Given the description of an element on the screen output the (x, y) to click on. 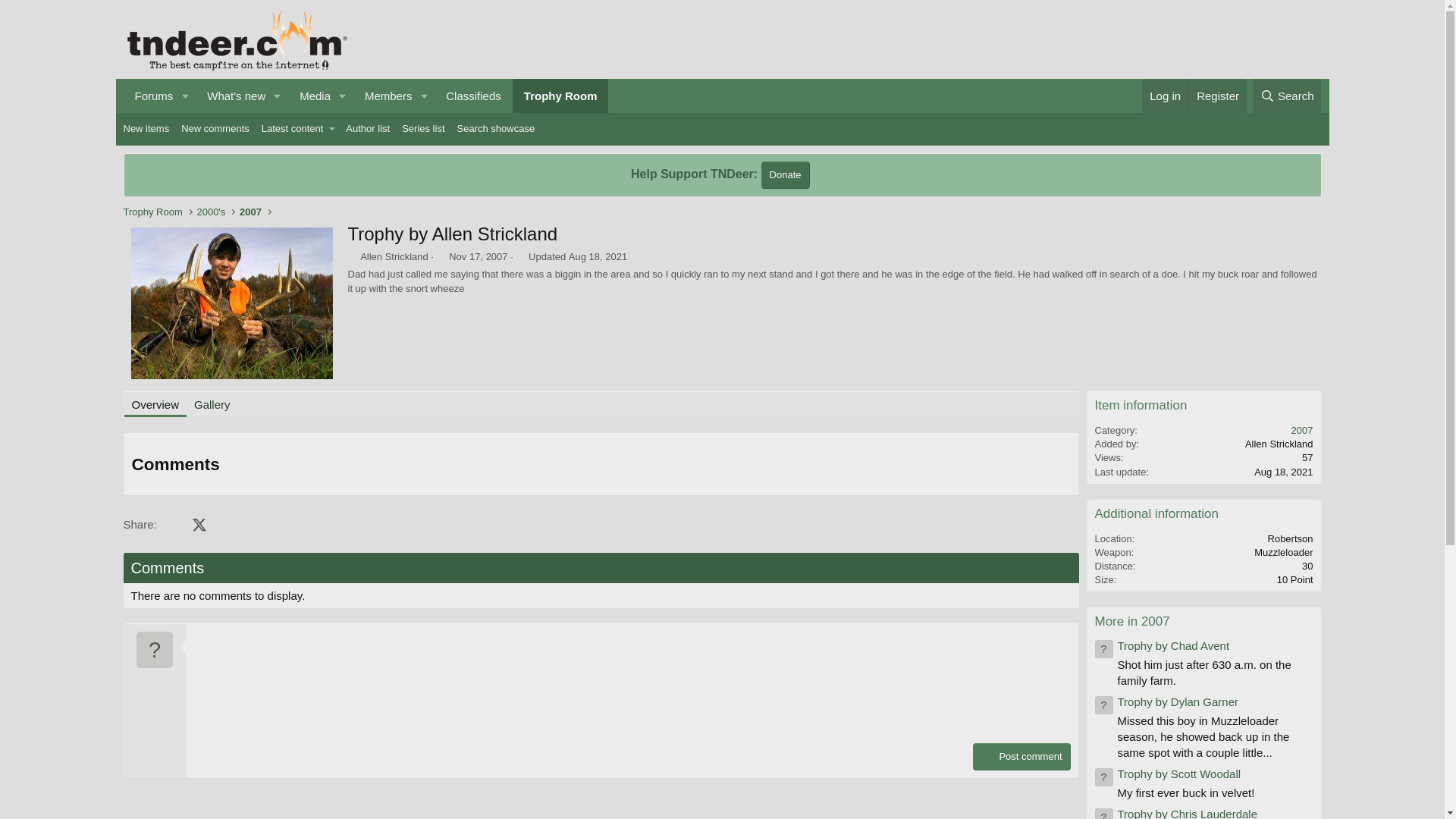
Last update (520, 256)
PayPal - The safer, easier way to pay online! (785, 175)
Members (383, 95)
Search (1287, 95)
Register (1217, 95)
Log in (1164, 95)
Forums (148, 95)
Added by (351, 256)
Donate (785, 175)
Classifieds (472, 95)
